Given the description of an element on the screen output the (x, y) to click on. 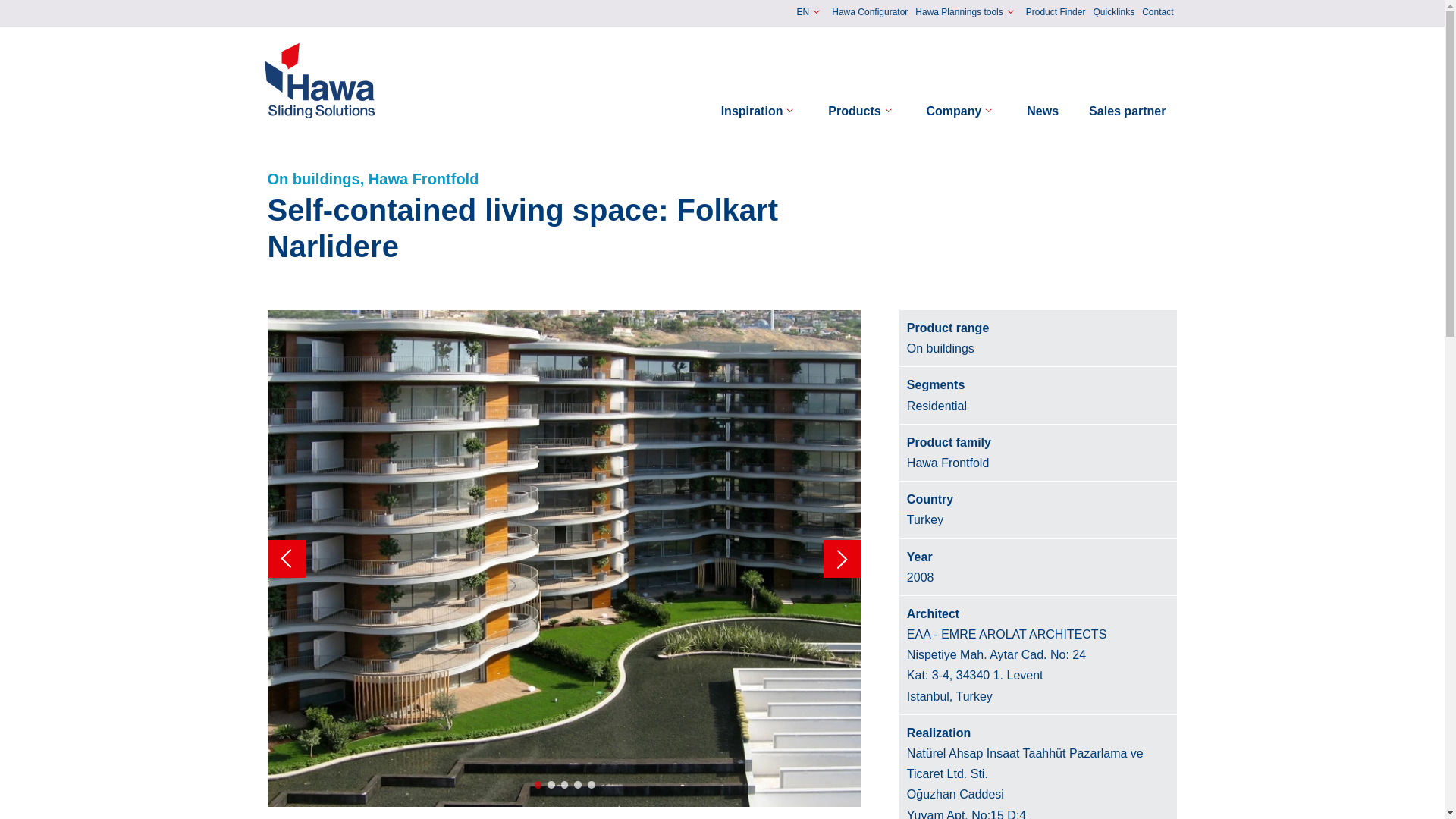
EN (810, 12)
Hawa Configurator (869, 12)
Inspiration (759, 111)
Quicklinks (1113, 12)
Hawa Plannings tools (966, 12)
Contact (1157, 12)
Products (861, 111)
Company (961, 111)
Hawa (320, 80)
Product Finder (1056, 12)
